Given the description of an element on the screen output the (x, y) to click on. 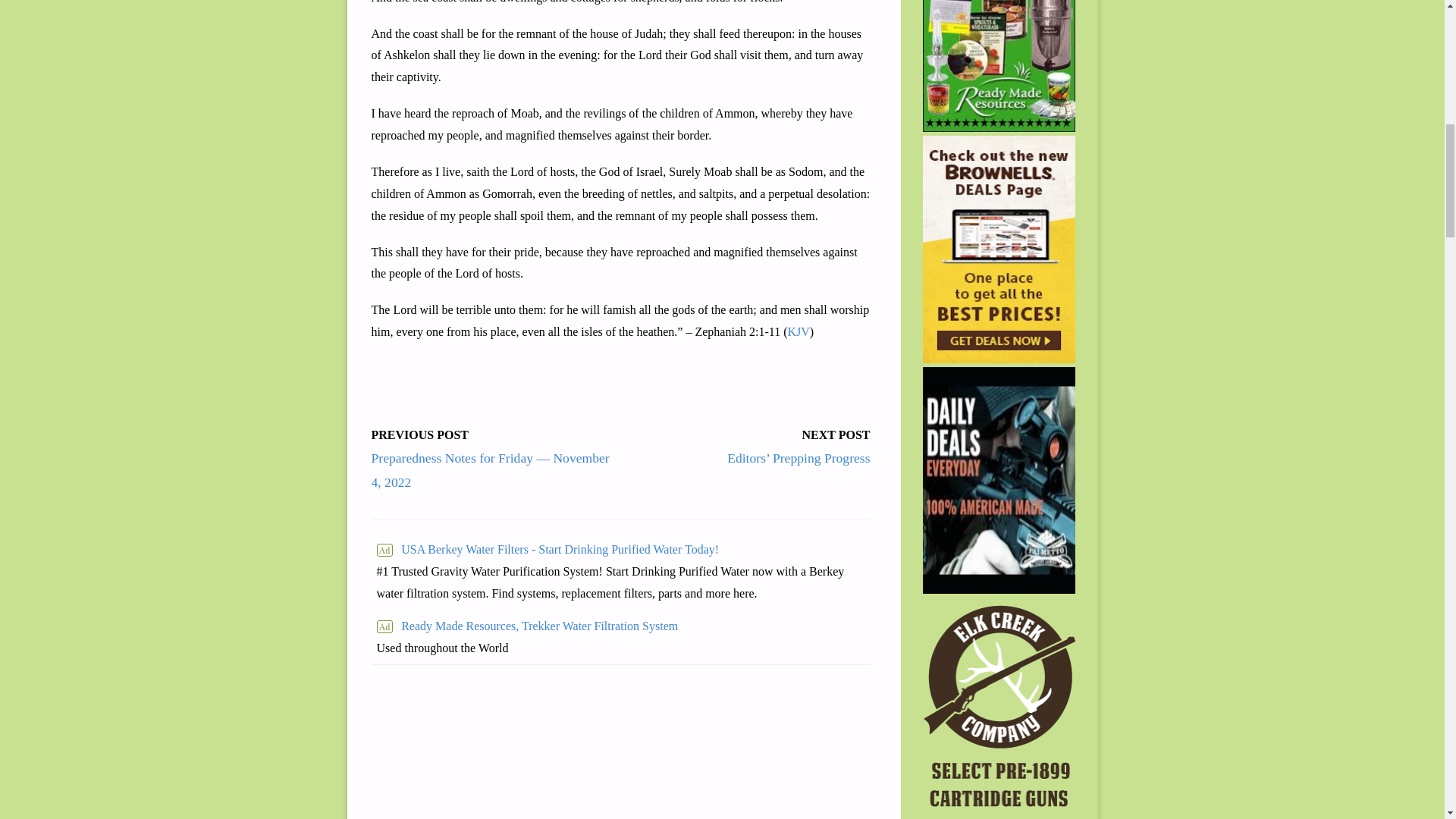
A Portable Water Treatment Plant (526, 626)
Ready Made Resources (999, 65)
USA Berkey Filters (619, 549)
